Given the description of an element on the screen output the (x, y) to click on. 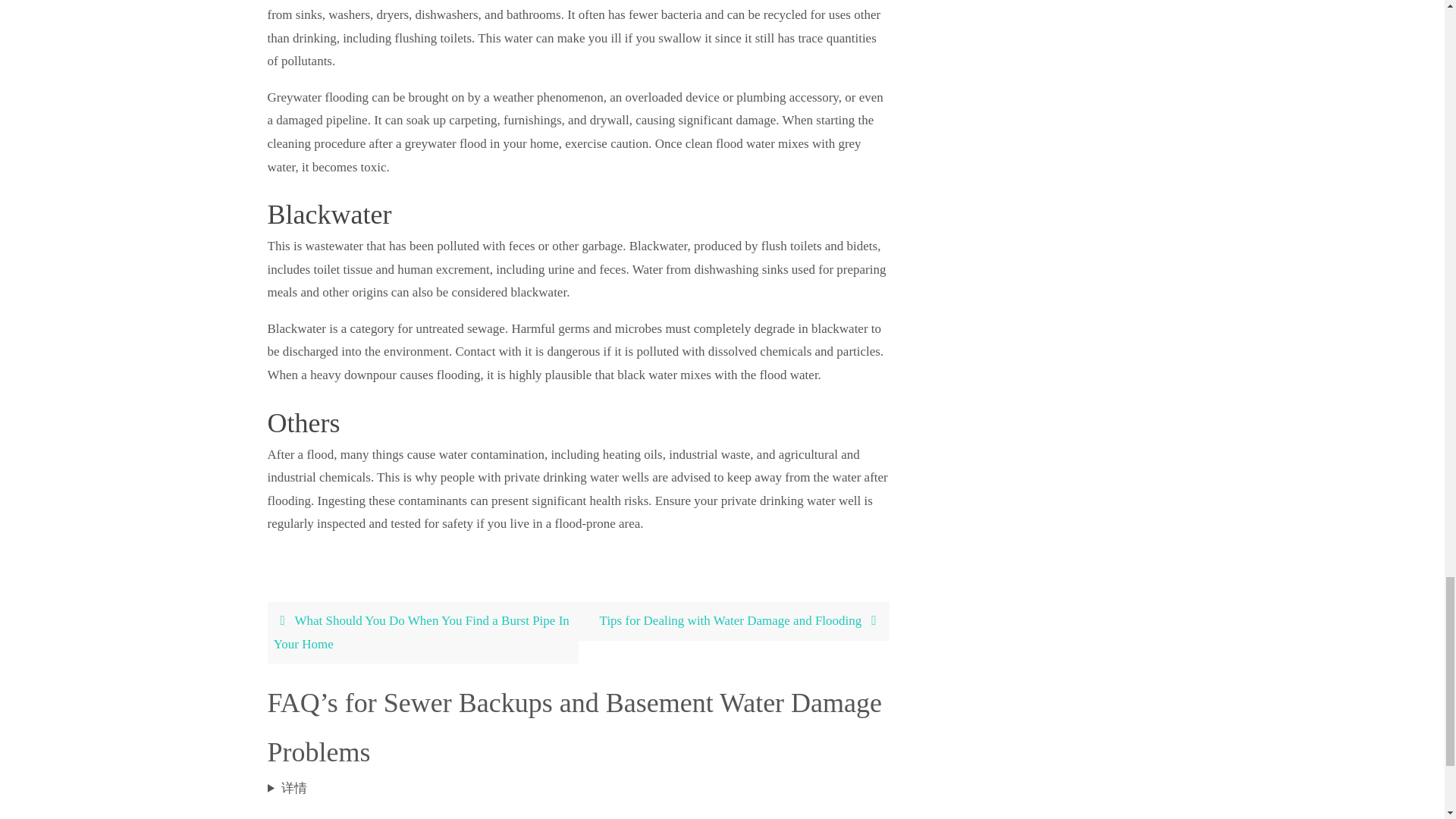
Tips for Dealing with Water Damage and Flooding (733, 620)
What Should You Do When You Find a Burst Pipe In Your Home (422, 632)
